Given the description of an element on the screen output the (x, y) to click on. 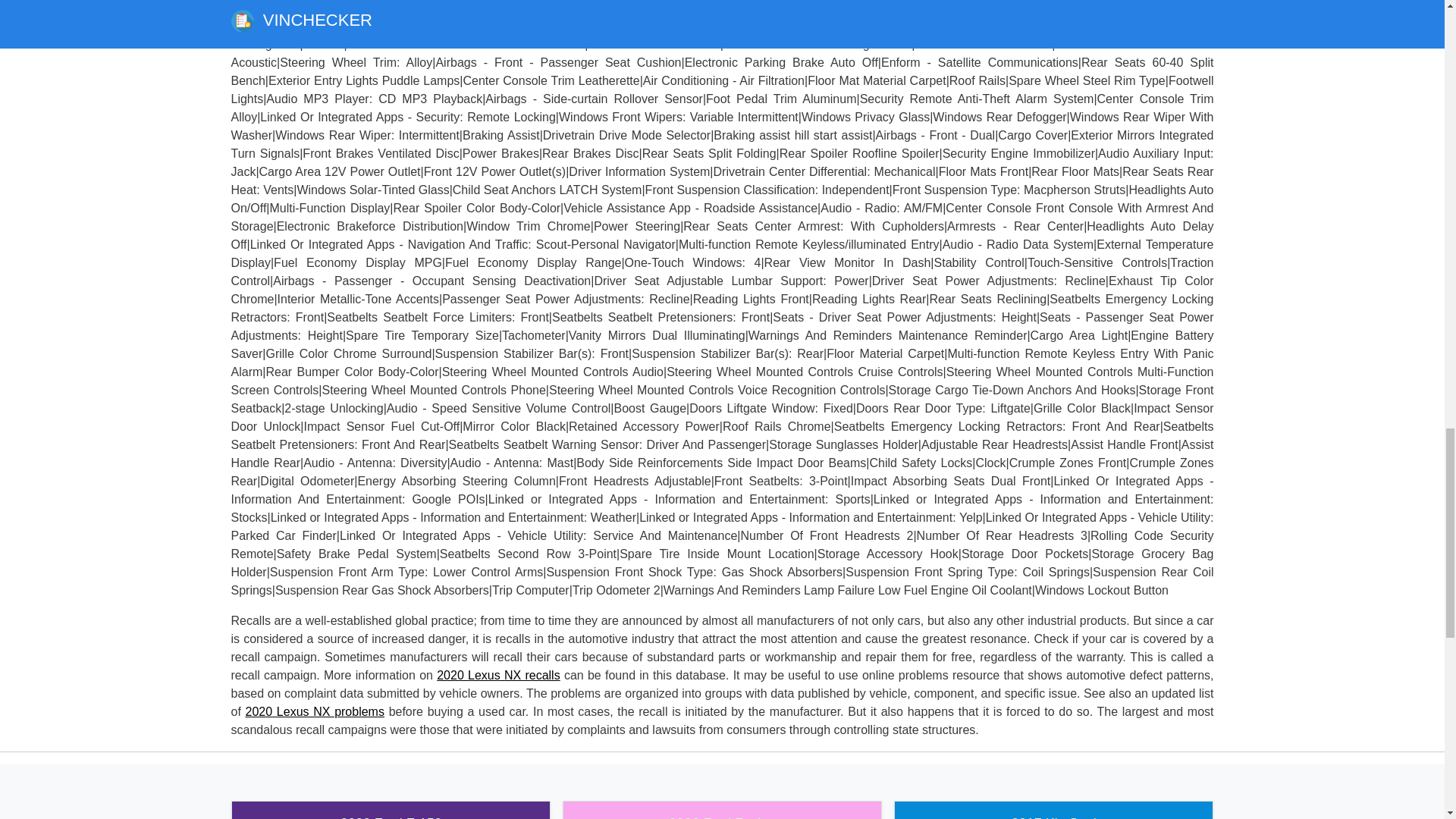
2020 Lexus NX recalls (498, 675)
2006 Ford Fusion (721, 810)
2020 Lexus NX problems (315, 711)
2020 Lexus NX problems (315, 711)
2020 Lexus NX recalls (498, 675)
2017 Kia Soul (1053, 810)
2020 Ford F-150 (390, 810)
